Given the description of an element on the screen output the (x, y) to click on. 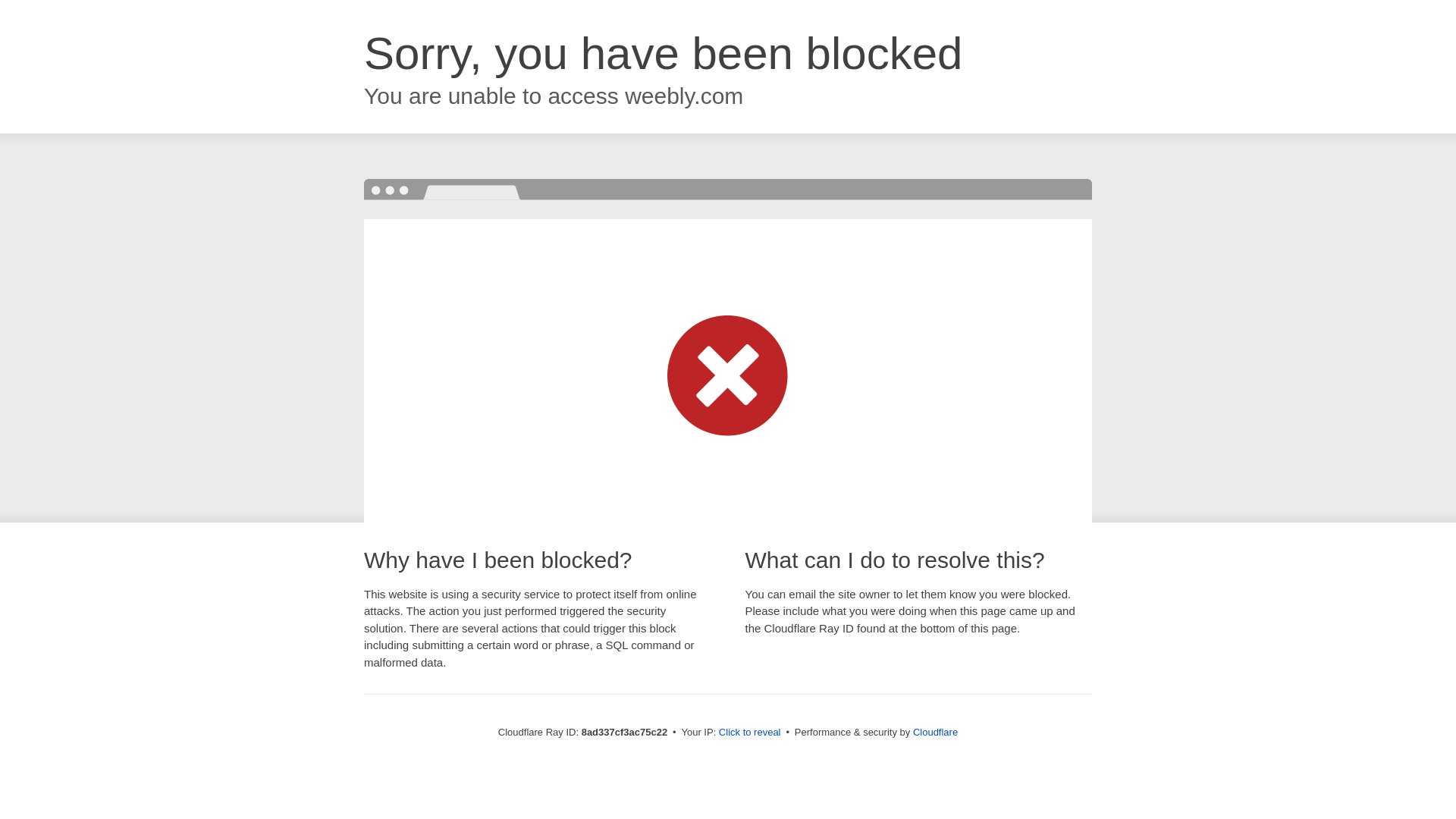
Click to reveal (749, 732)
Cloudflare (935, 731)
